Given the description of an element on the screen output the (x, y) to click on. 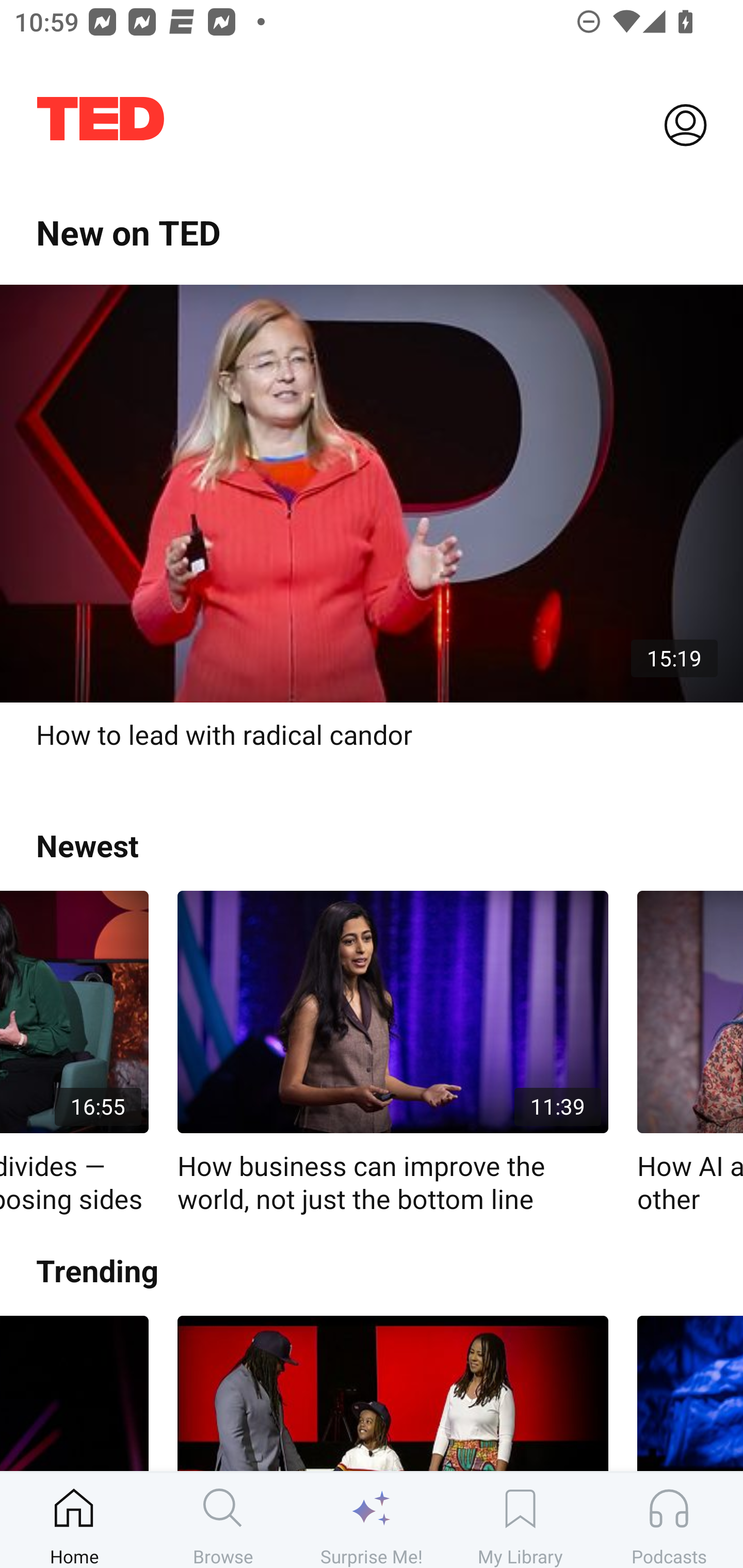
Home (74, 1520)
Browse (222, 1520)
Surprise Me! (371, 1520)
My Library (519, 1520)
Podcasts (668, 1520)
